Given the description of an element on the screen output the (x, y) to click on. 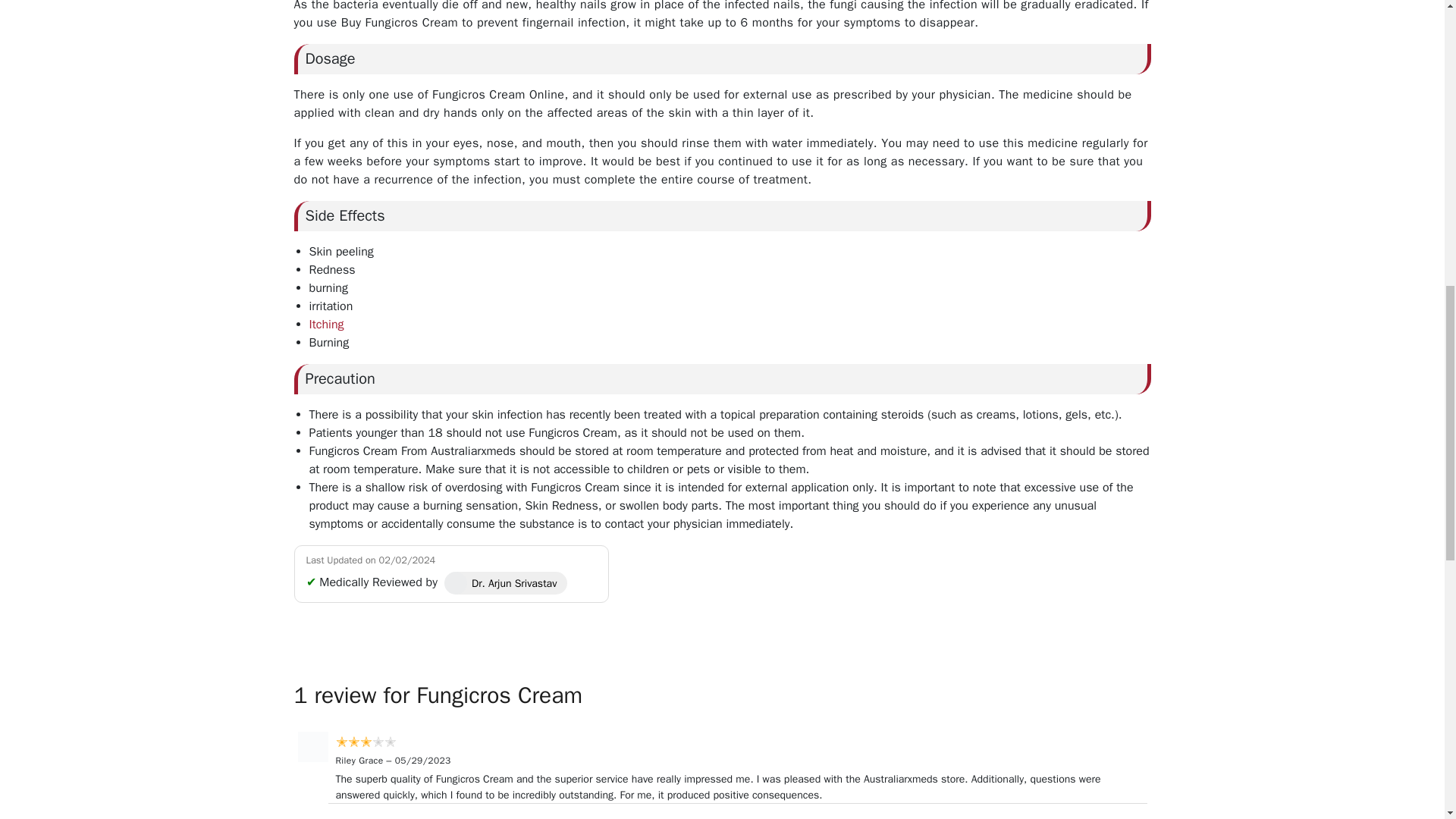
Itching (325, 324)
